Given the description of an element on the screen output the (x, y) to click on. 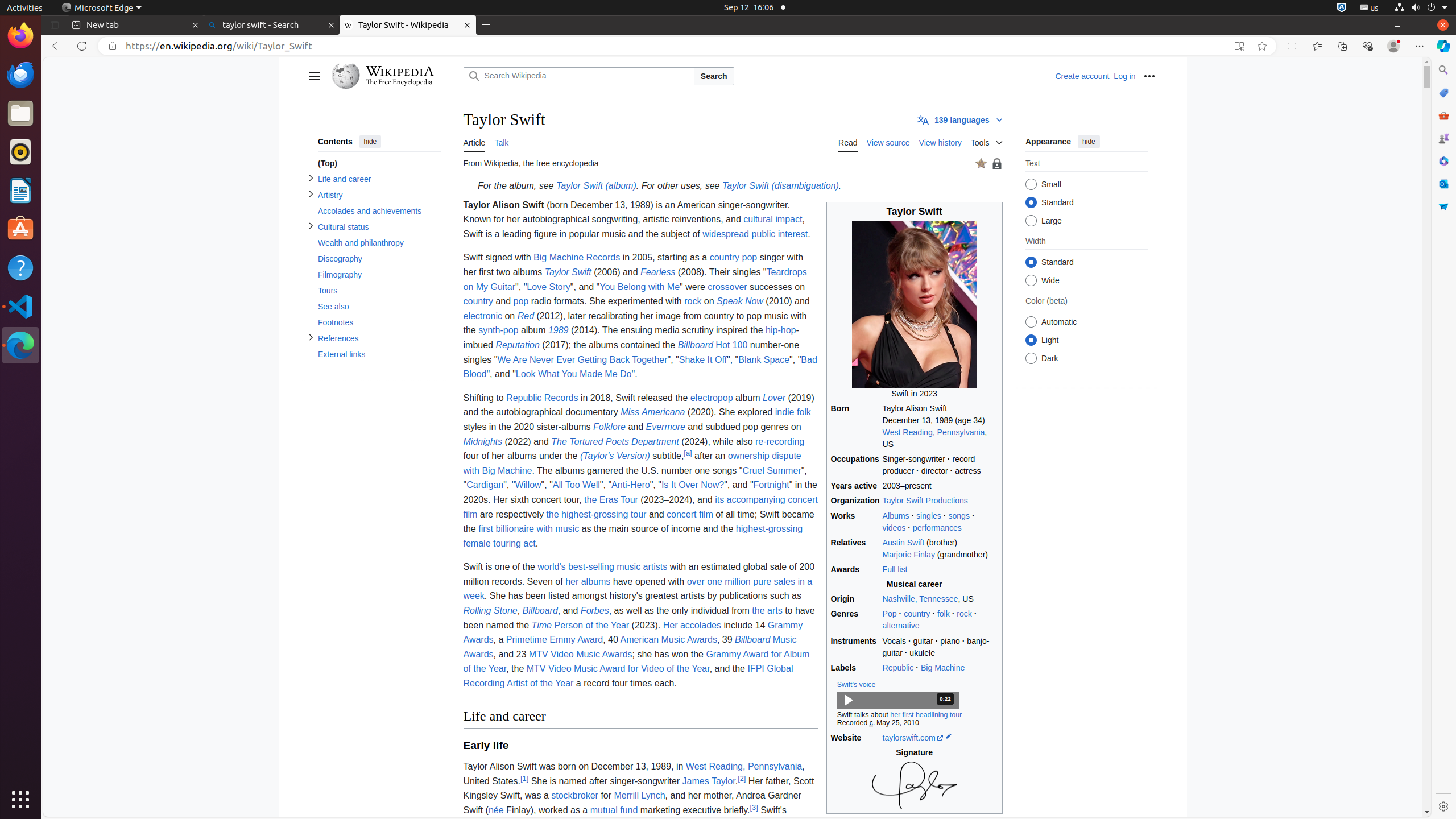
its accompanying concert film Element type: link (639, 506)
See also Element type: link (378, 306)
Midnights Element type: link (482, 441)
Singer-songwriter · record producer · director · actress Element type: table-cell (939, 465)
We Are Never Ever Getting Back Together Element type: link (582, 359)
